Given the description of an element on the screen output the (x, y) to click on. 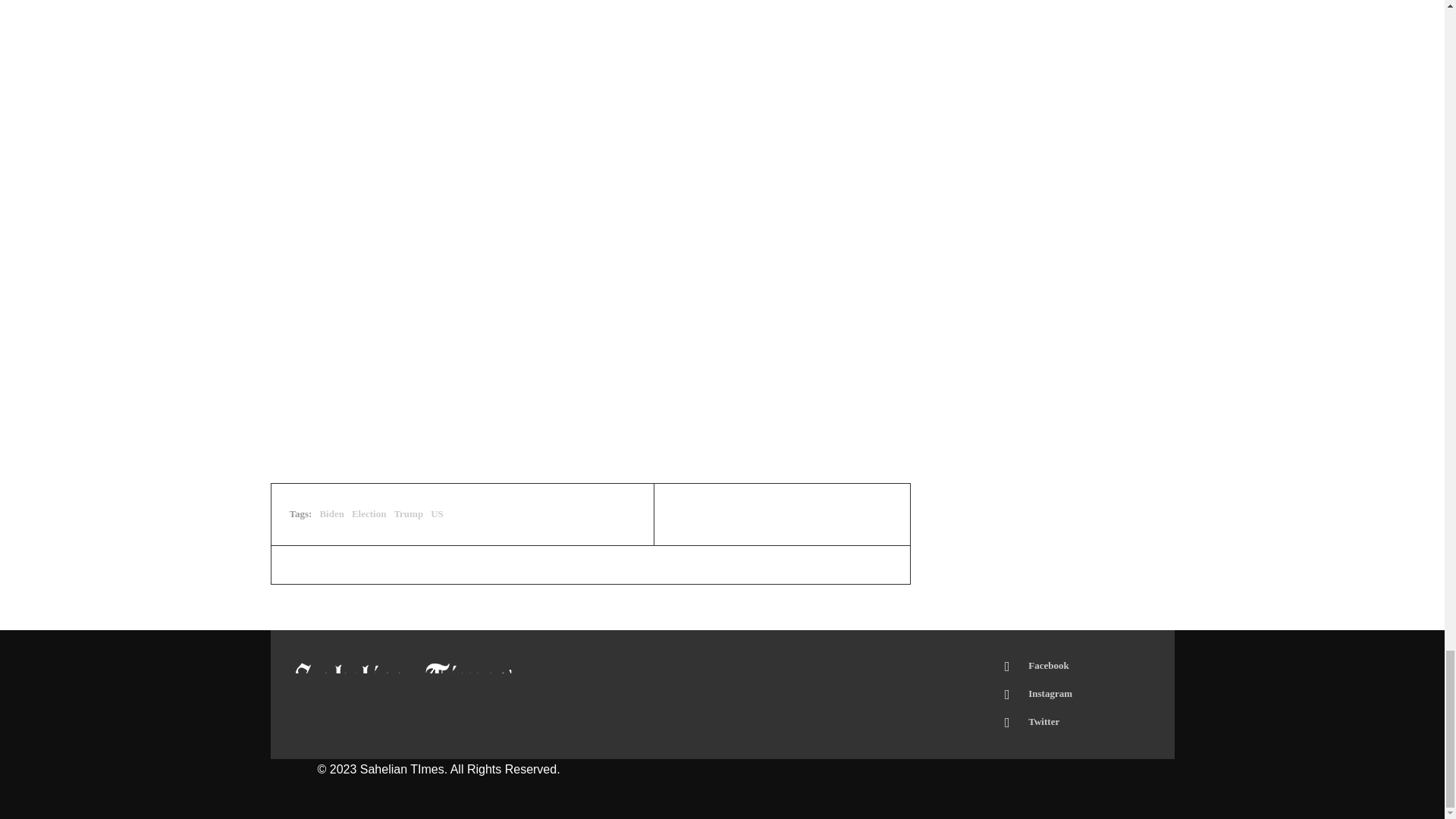
Biden (330, 513)
Trump (408, 513)
Election (369, 513)
